Given the description of an element on the screen output the (x, y) to click on. 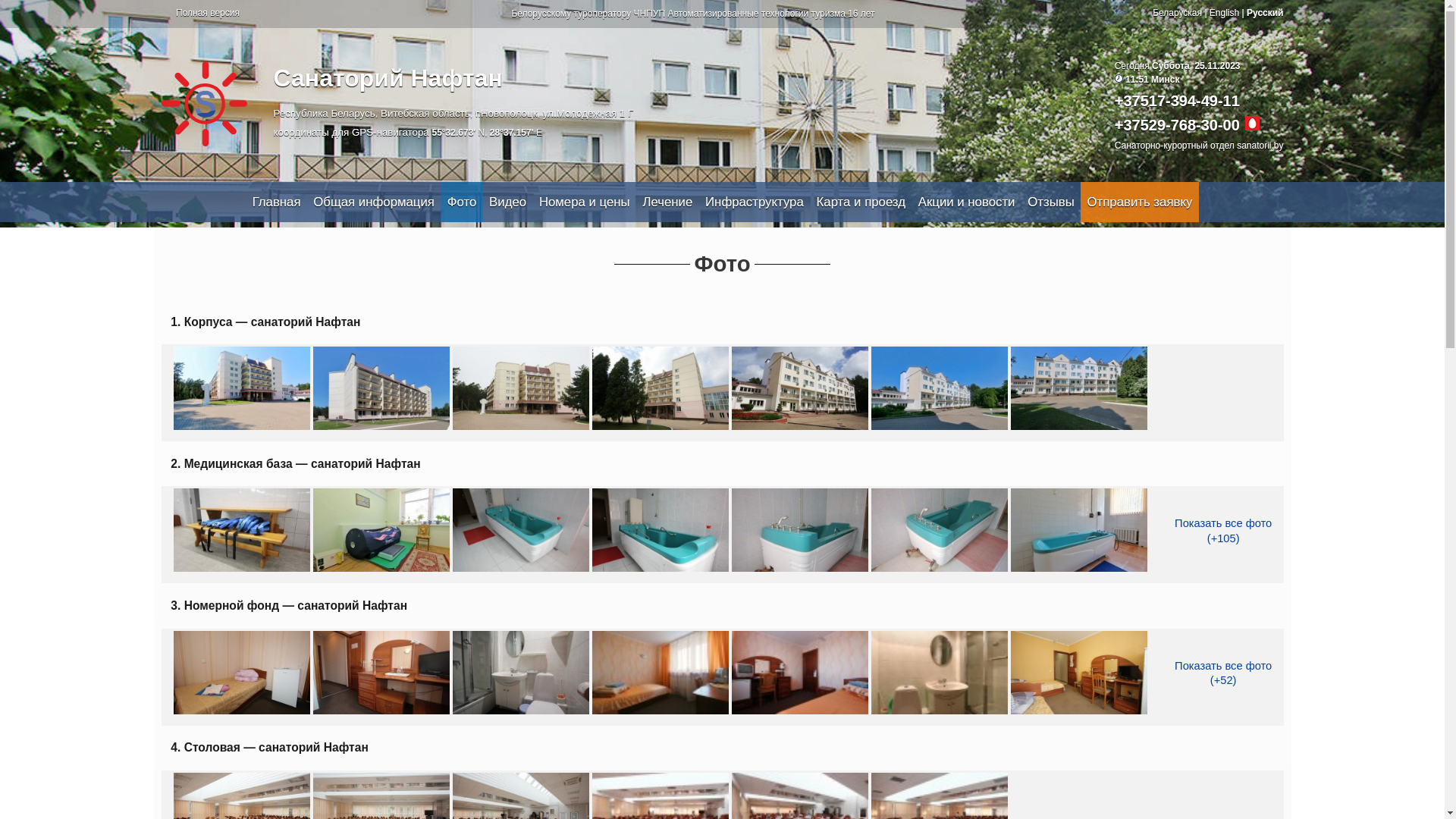
+37517-394-49-11 Element type: text (1176, 100)
English Element type: text (1224, 12)
+37529-768-30-00 Element type: text (1176, 124)
